Given the description of an element on the screen output the (x, y) to click on. 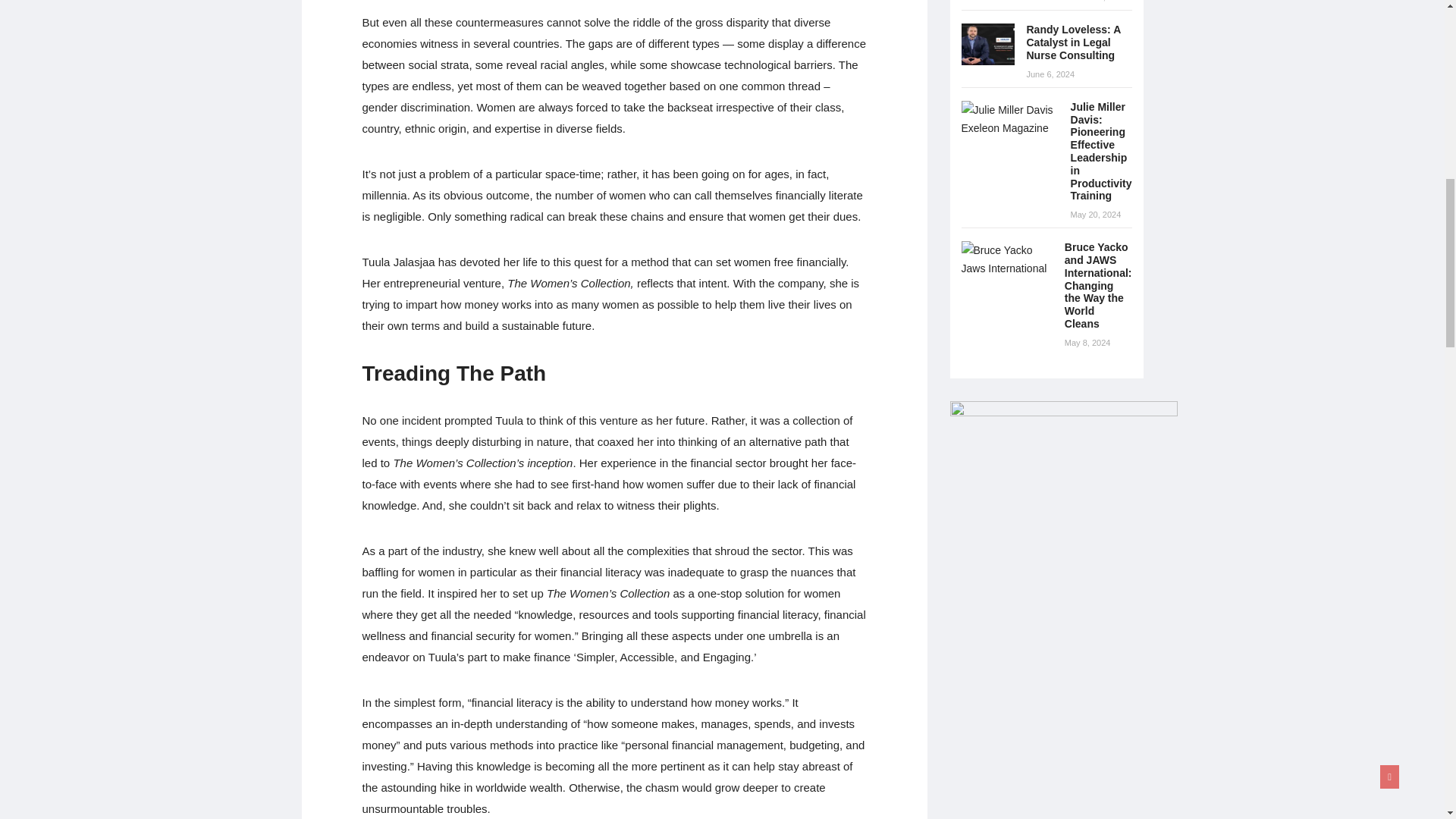
Randy Loveless: A Catalyst in Legal Nurse Consulting (1073, 42)
Randy Loveless: A Catalyst in Legal Nurse Consulting (987, 44)
